Given the description of an element on the screen output the (x, y) to click on. 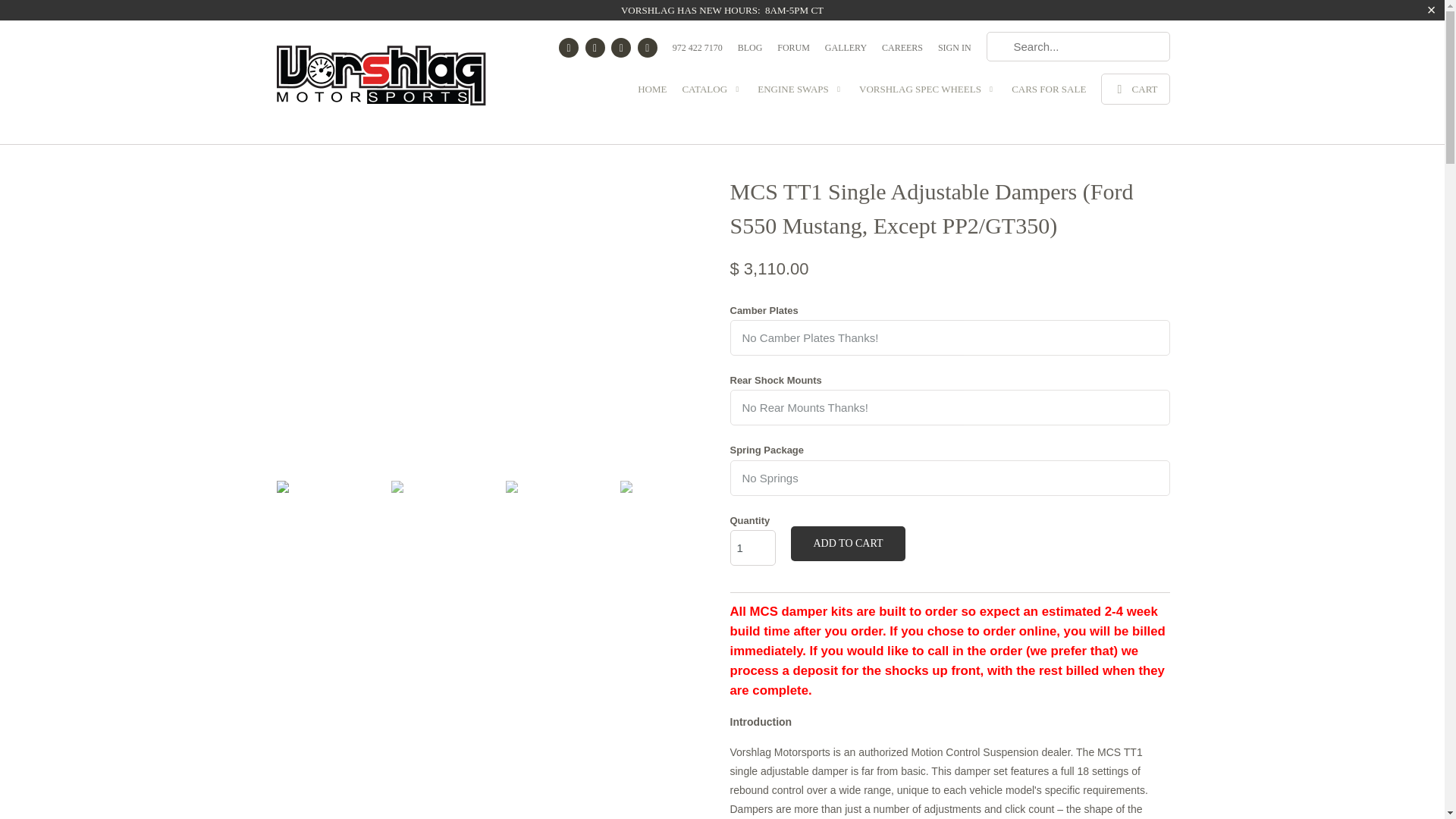
Careers  (902, 51)
SIGN IN (954, 51)
Gallery (845, 51)
BLOG (750, 51)
FORUM (793, 51)
Email Vorshlag (647, 47)
Cart (1134, 88)
Forum (793, 51)
972 422 7170 (697, 51)
Blog (750, 51)
Vorshlag on YouTube (595, 47)
Vorshlag on Facebook (568, 47)
CATALOG (711, 93)
CAREERS (902, 51)
972 422 7170 (697, 51)
